Given the description of an element on the screen output the (x, y) to click on. 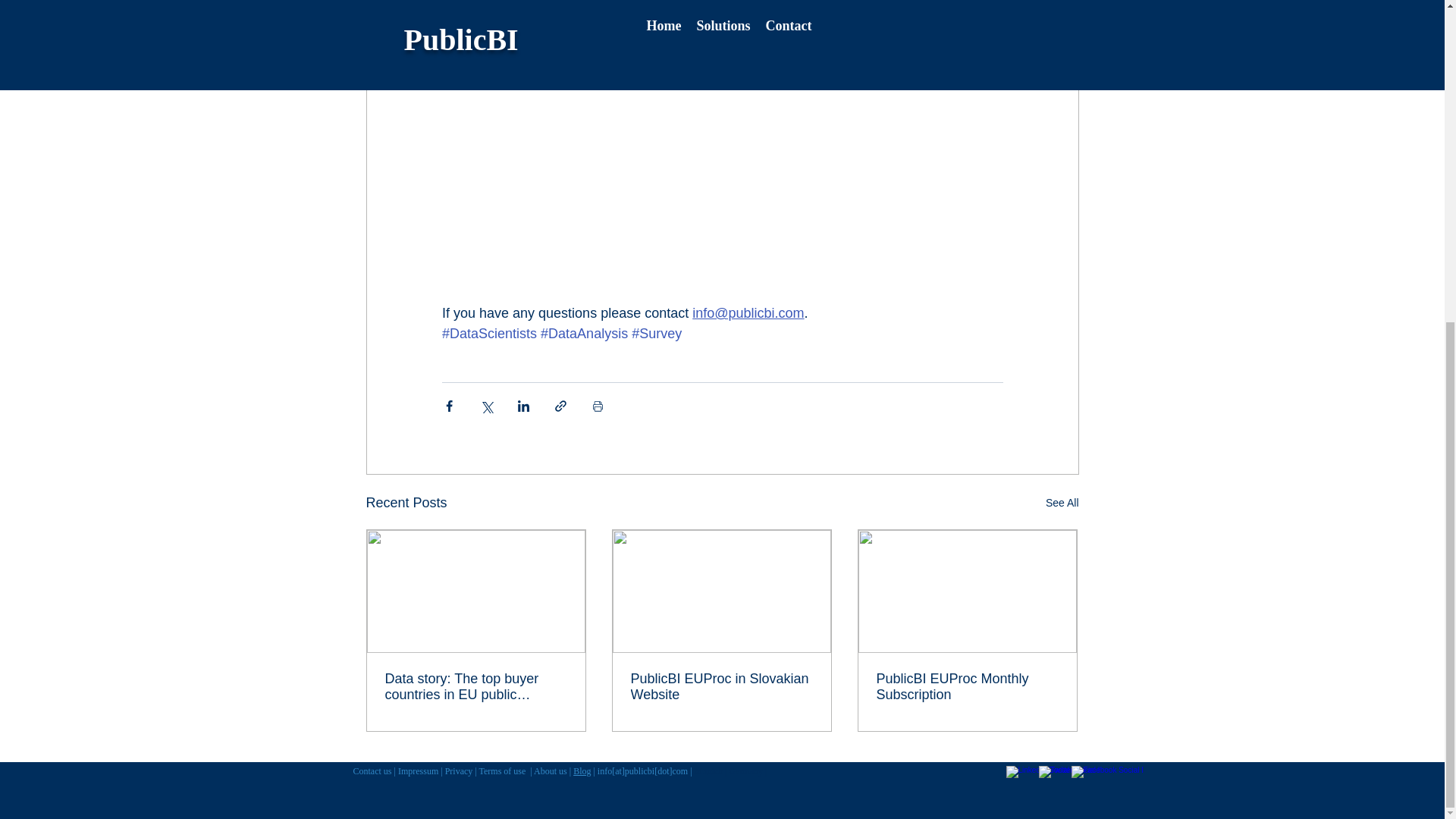
PublicBI EUProc in Slovakian Website (721, 686)
See All (1061, 503)
Blog (582, 770)
Data story: The top buyer countries in EU public procurement (476, 686)
PublicBI EUProc Monthly Subscription (967, 686)
Privacy  (460, 770)
